Given the description of an element on the screen output the (x, y) to click on. 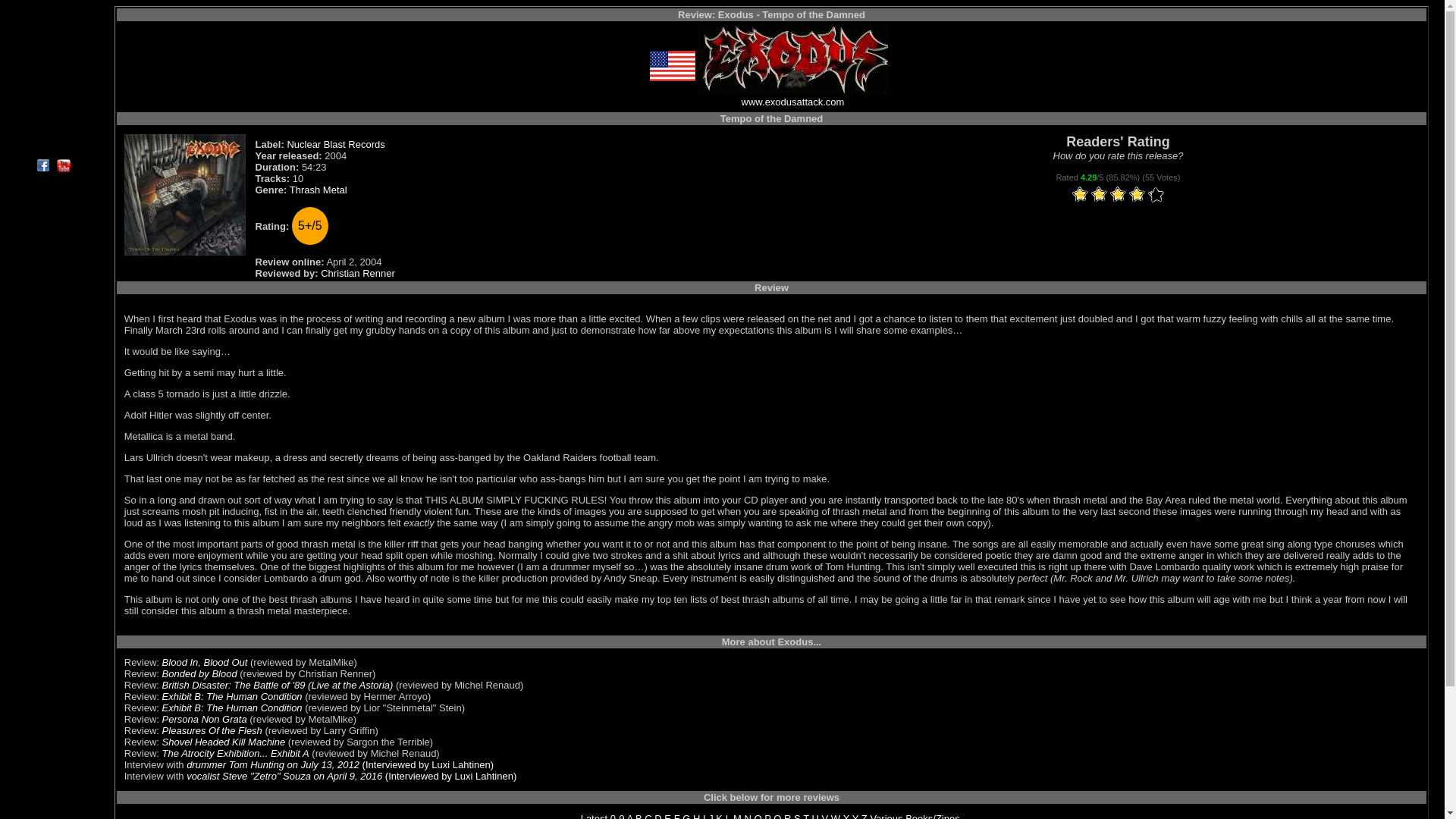
Exhibit B: The Human Condition (231, 707)
5 (1118, 194)
Description of the Main Metal Genres (52, 95)
2 (1089, 194)
About (52, 148)
Exodus (791, 59)
www.exodusattack.com (792, 101)
Discuss Metal and Other Stuff (52, 77)
List of Editorials (52, 60)
List of Reviews (52, 26)
